Given the description of an element on the screen output the (x, y) to click on. 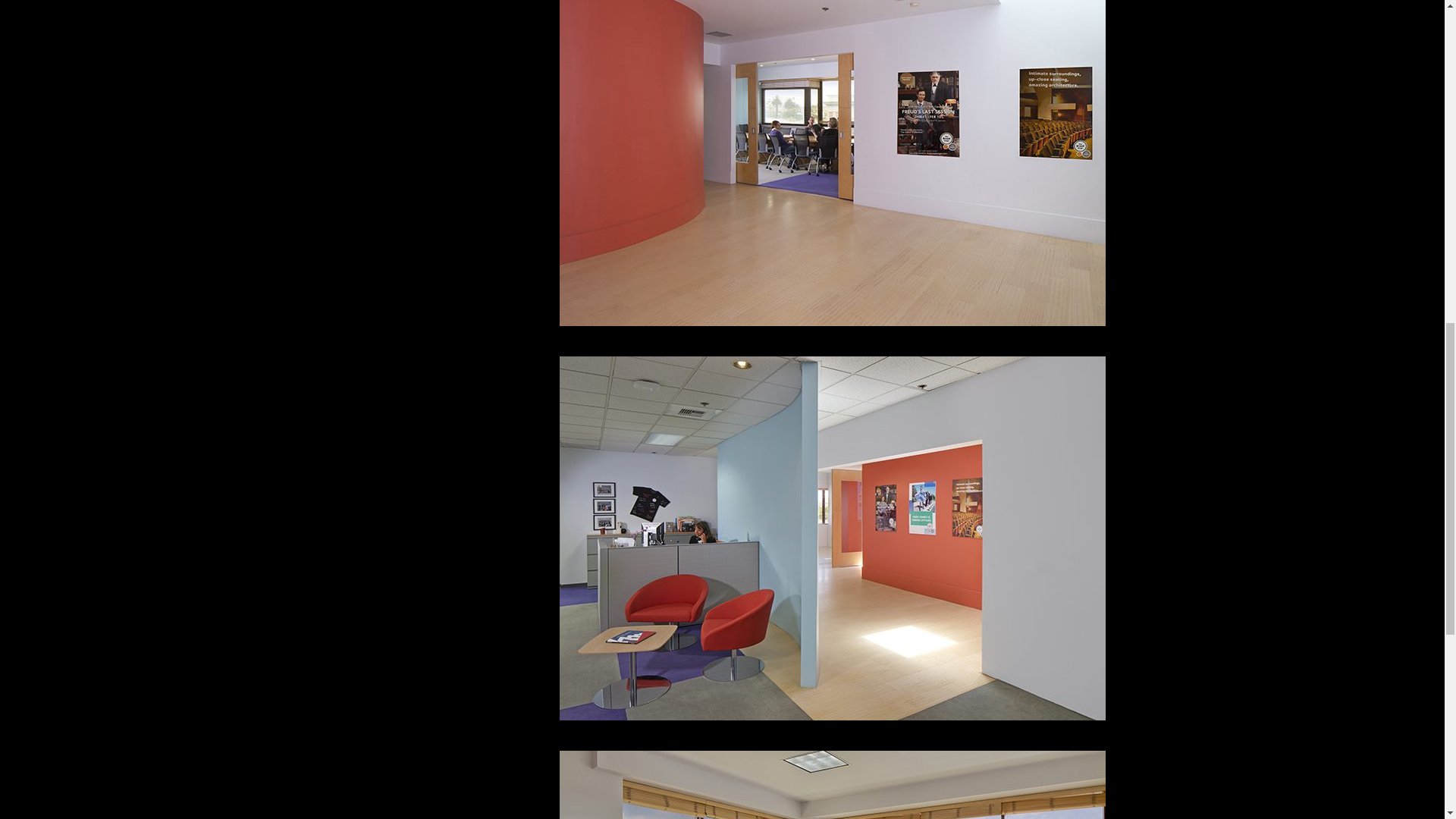
04 web (832, 785)
